Given the description of an element on the screen output the (x, y) to click on. 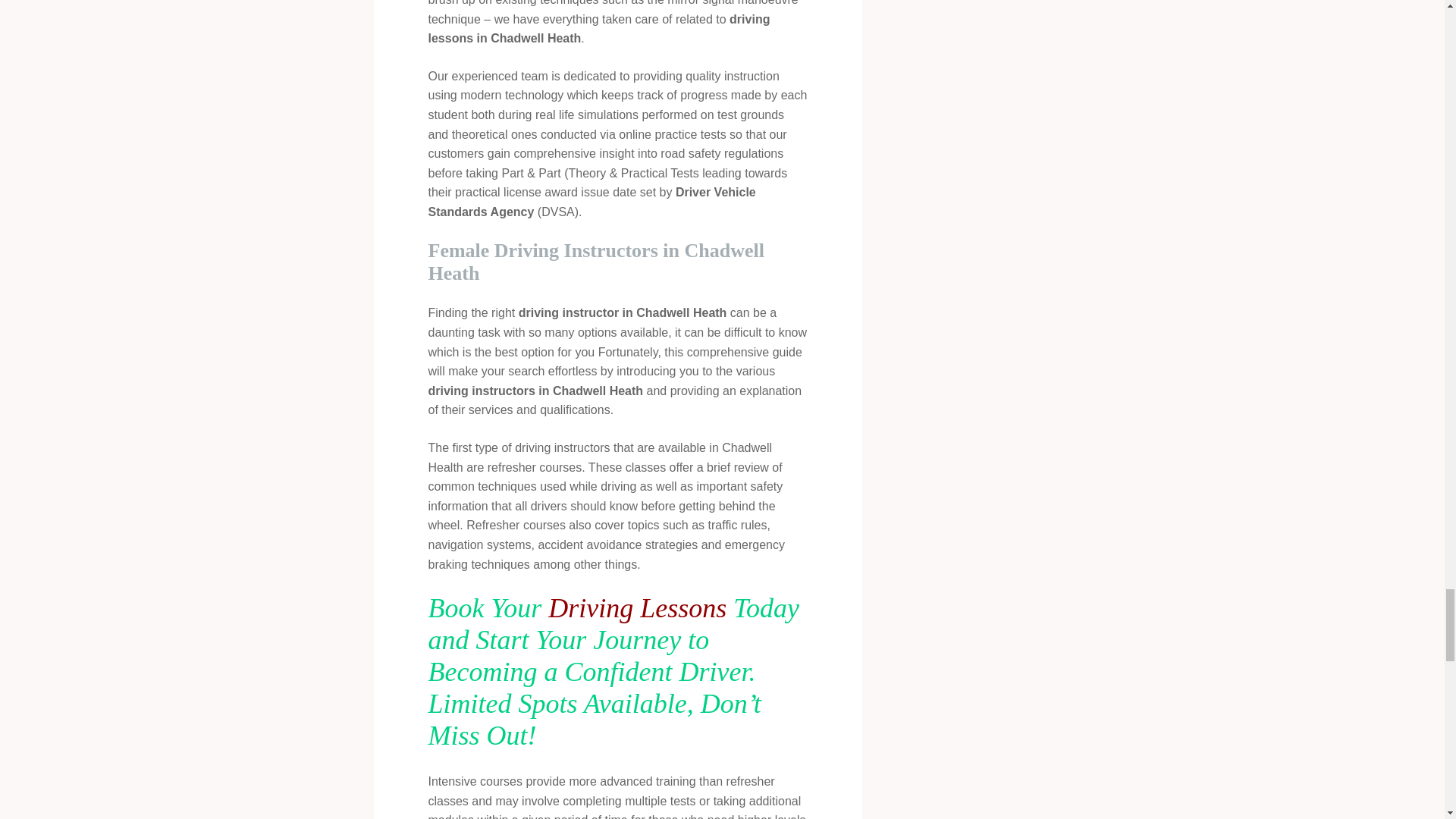
Driving Lessons (637, 608)
